Given the description of an element on the screen output the (x, y) to click on. 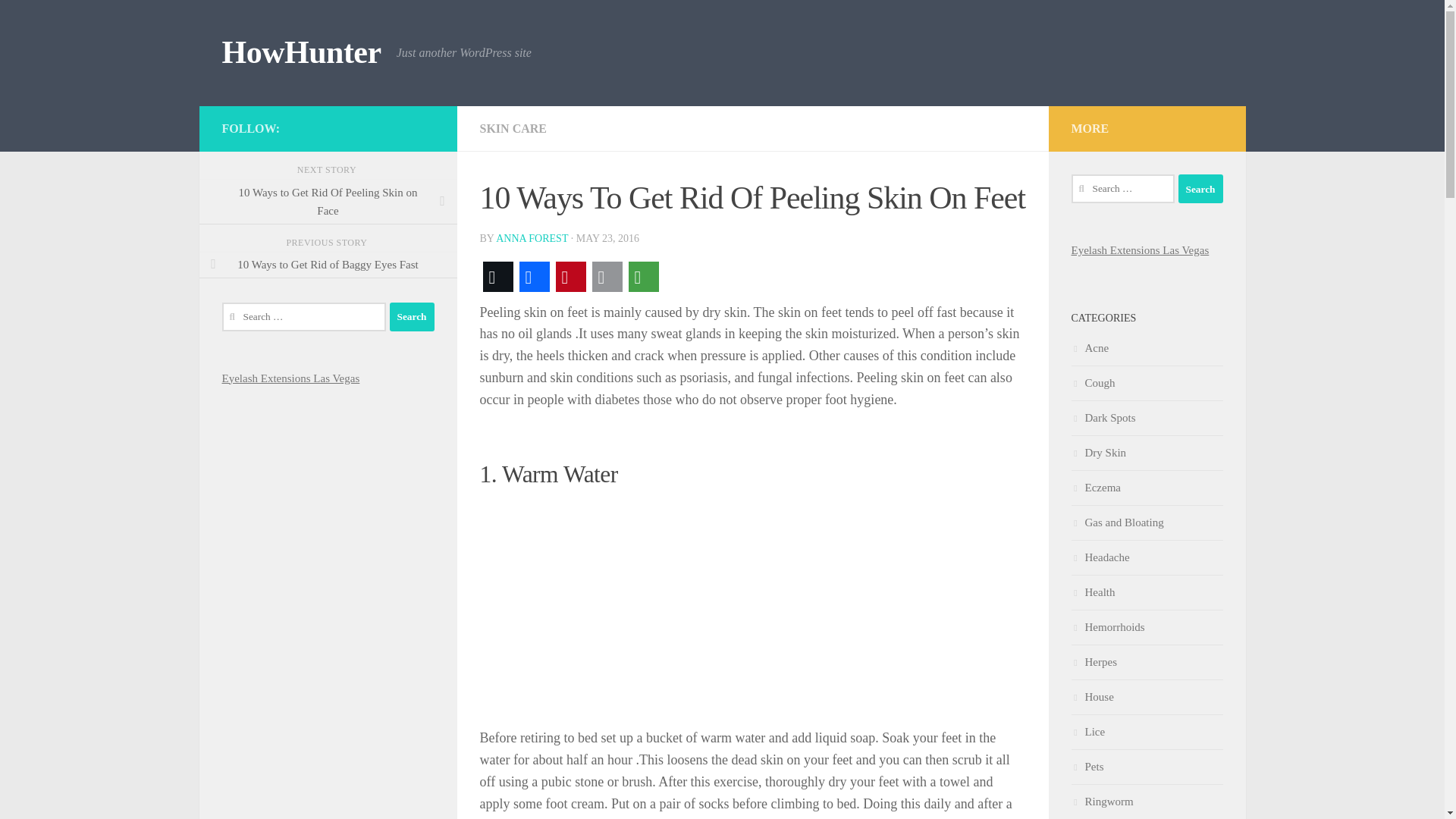
ANNA FOREST (531, 238)
Gas and Bloating (1116, 522)
Advertisement (752, 607)
Dark Spots (1102, 417)
Eyelash Extensions Las Vegas (290, 378)
Skip to content (59, 20)
Search (1200, 188)
SKIN CARE (512, 128)
10 Ways to Get Rid Of Peeling Skin on Face (327, 201)
Posts by Anna Forest (531, 238)
More Options (642, 276)
Search (411, 316)
Search (1200, 188)
HowHunter (300, 53)
Facebook (533, 276)
